Given the description of an element on the screen output the (x, y) to click on. 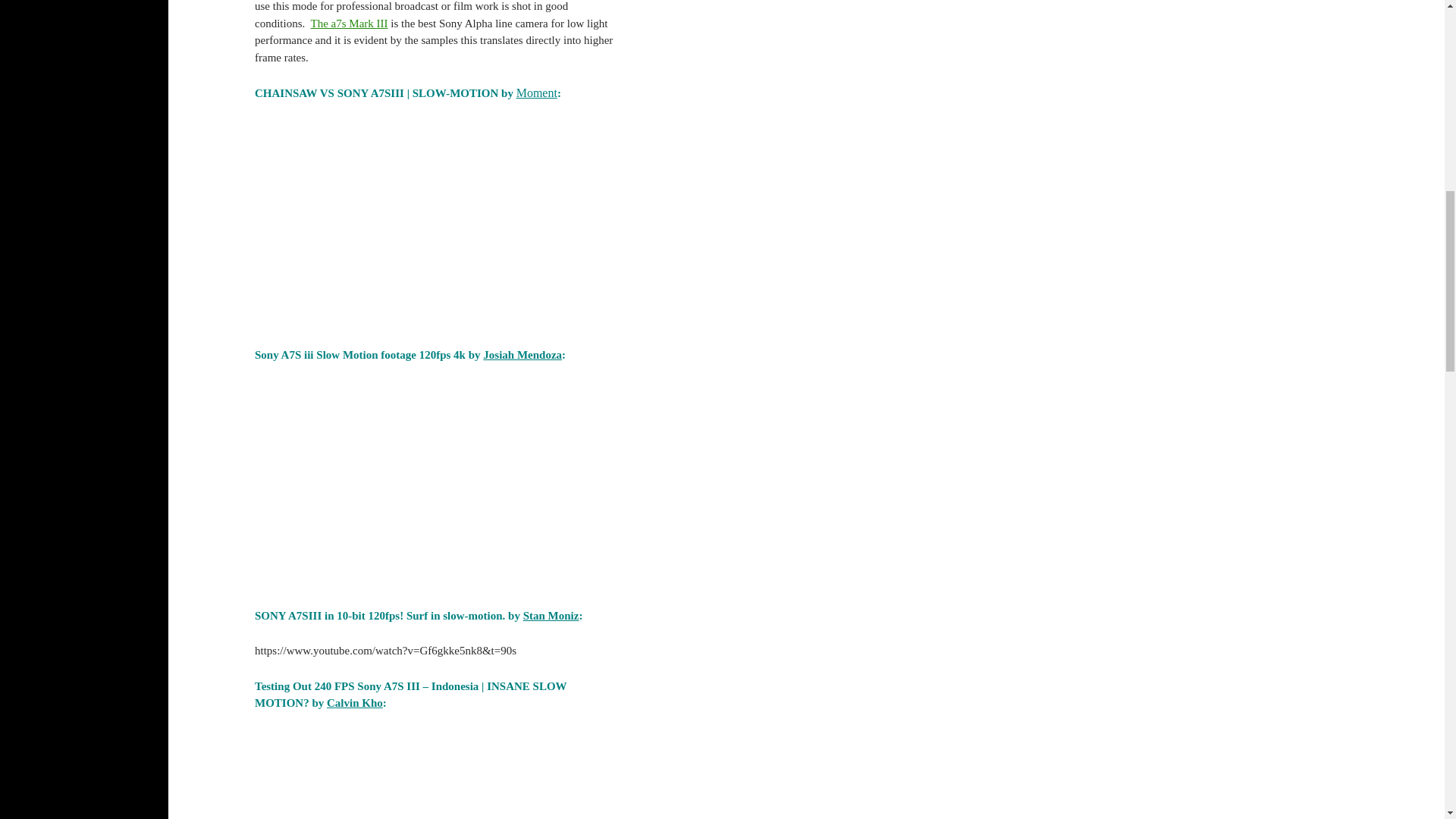
Calvin Kho (354, 702)
The a7s Mark III (348, 23)
Moment (536, 92)
Sony A7S iii Slow Motion footage 120fps 4k (434, 482)
Stan Moniz (550, 615)
Josiah Mendoza (522, 354)
